Given the description of an element on the screen output the (x, y) to click on. 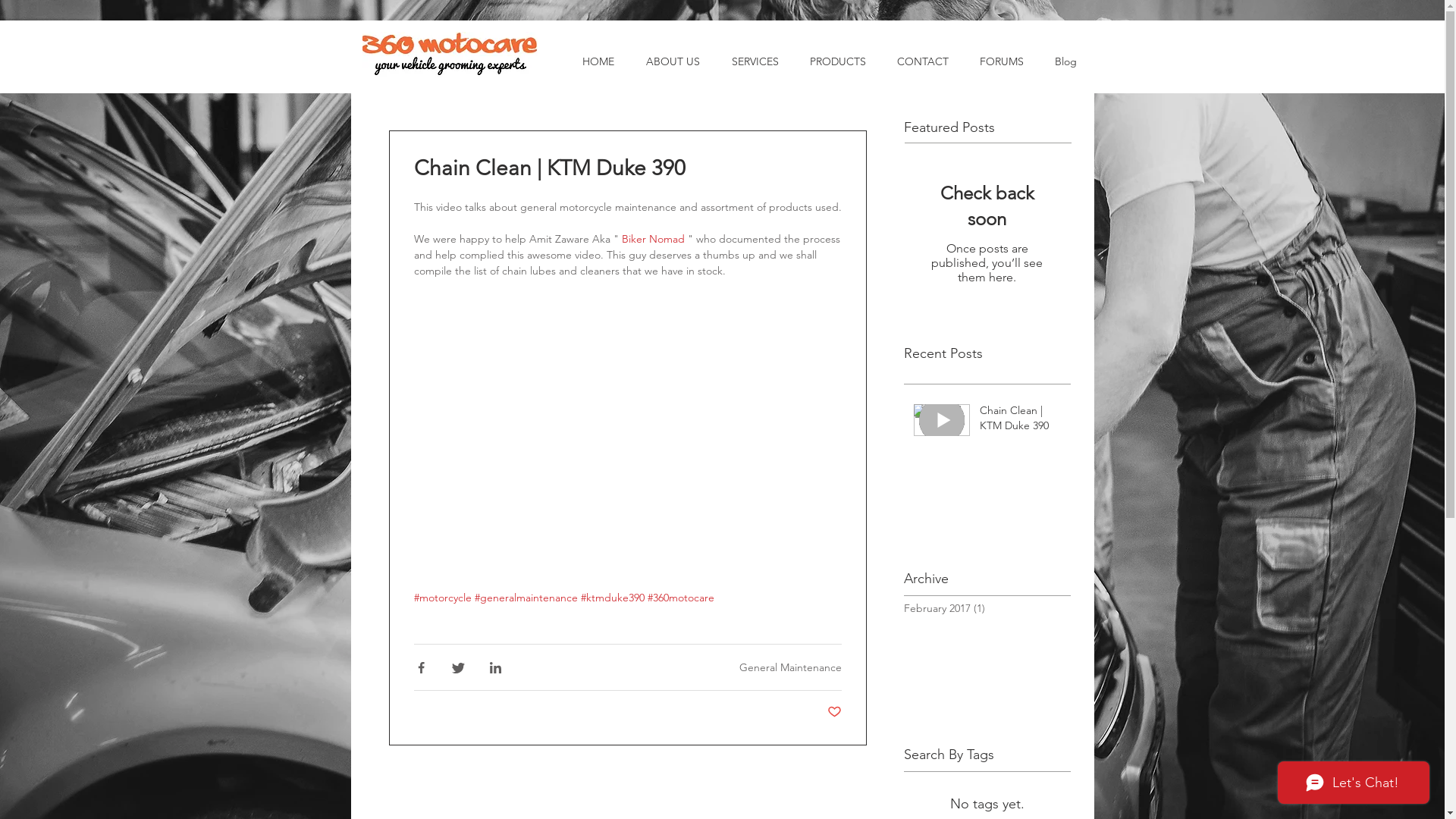
PRODUCTS Element type: text (837, 61)
#360motocare Element type: text (680, 597)
SERVICES Element type: text (754, 61)
ABOUT US Element type: text (672, 61)
FORUMS Element type: text (1001, 61)
Blog Element type: text (1065, 61)
HOME Element type: text (597, 61)
CONTACT Element type: text (922, 61)
#ktmduke390 Element type: text (612, 597)
General Maintenance Element type: text (789, 667)
360motocarelogo.jpg Element type: hover (449, 54)
#generalmaintenance Element type: text (525, 597)
February 2017 (1) Element type: text (983, 608)
Chain Clean | KTM Duke 390 Element type: text (1020, 421)
#motorcycle Element type: text (442, 597)
Biker Nomad Element type: text (652, 238)
Post not marked as liked Element type: text (833, 712)
